Given the description of an element on the screen output the (x, y) to click on. 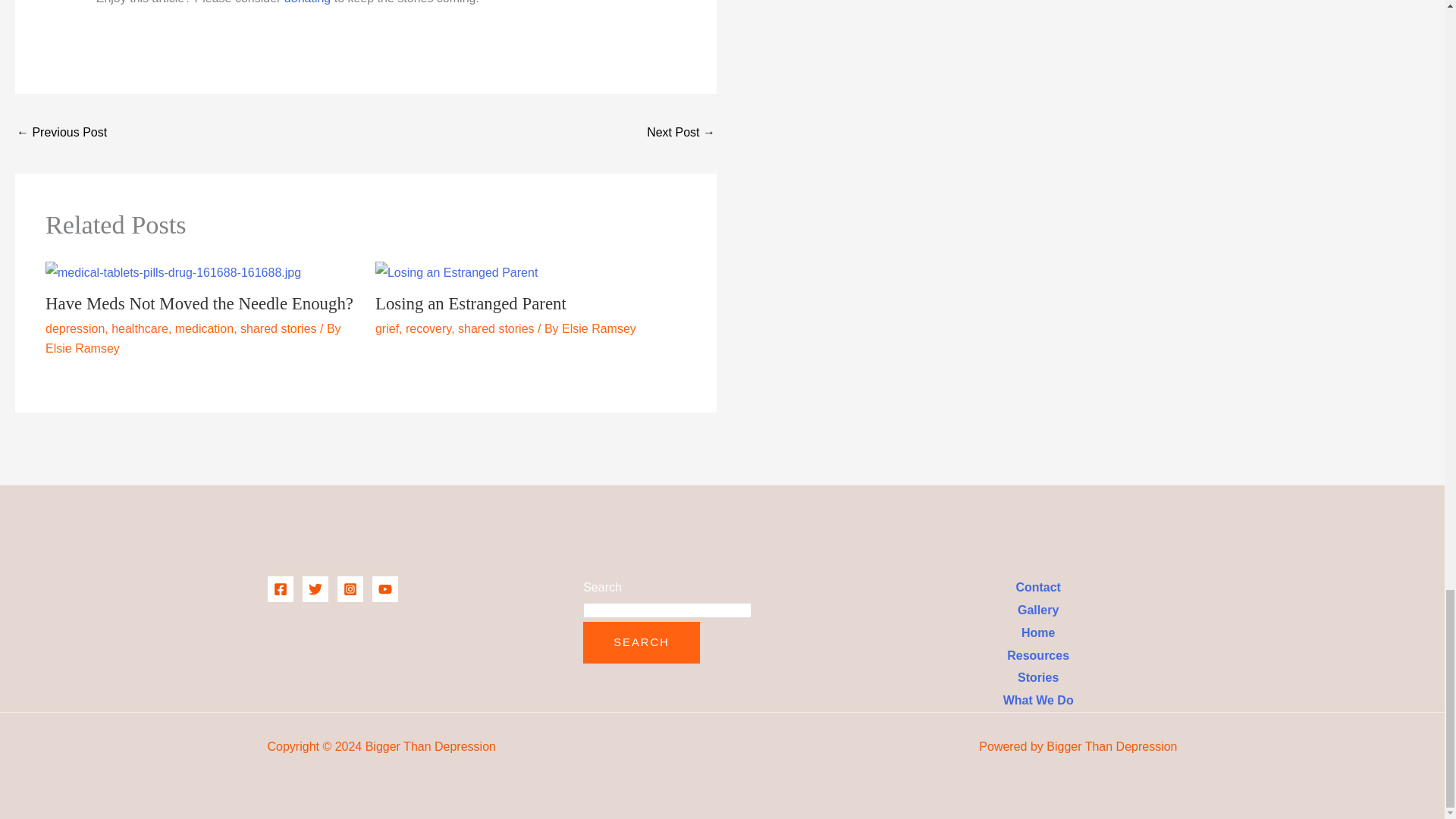
shared stories (496, 328)
Shoot In The Dark (680, 133)
depression (74, 328)
Losing an Estranged Parent (470, 303)
Elsie Ramsey (82, 348)
medication (203, 328)
healthcare (140, 328)
View all posts by Elsie Ramsey (599, 328)
donating (306, 2)
recovery (428, 328)
Have Meds Not Moved the Needle Enough? (199, 303)
grief (386, 328)
shared stories (278, 328)
View all posts by Elsie Ramsey (82, 348)
Can I Hold Your Hand? (61, 133)
